Given the description of an element on the screen output the (x, y) to click on. 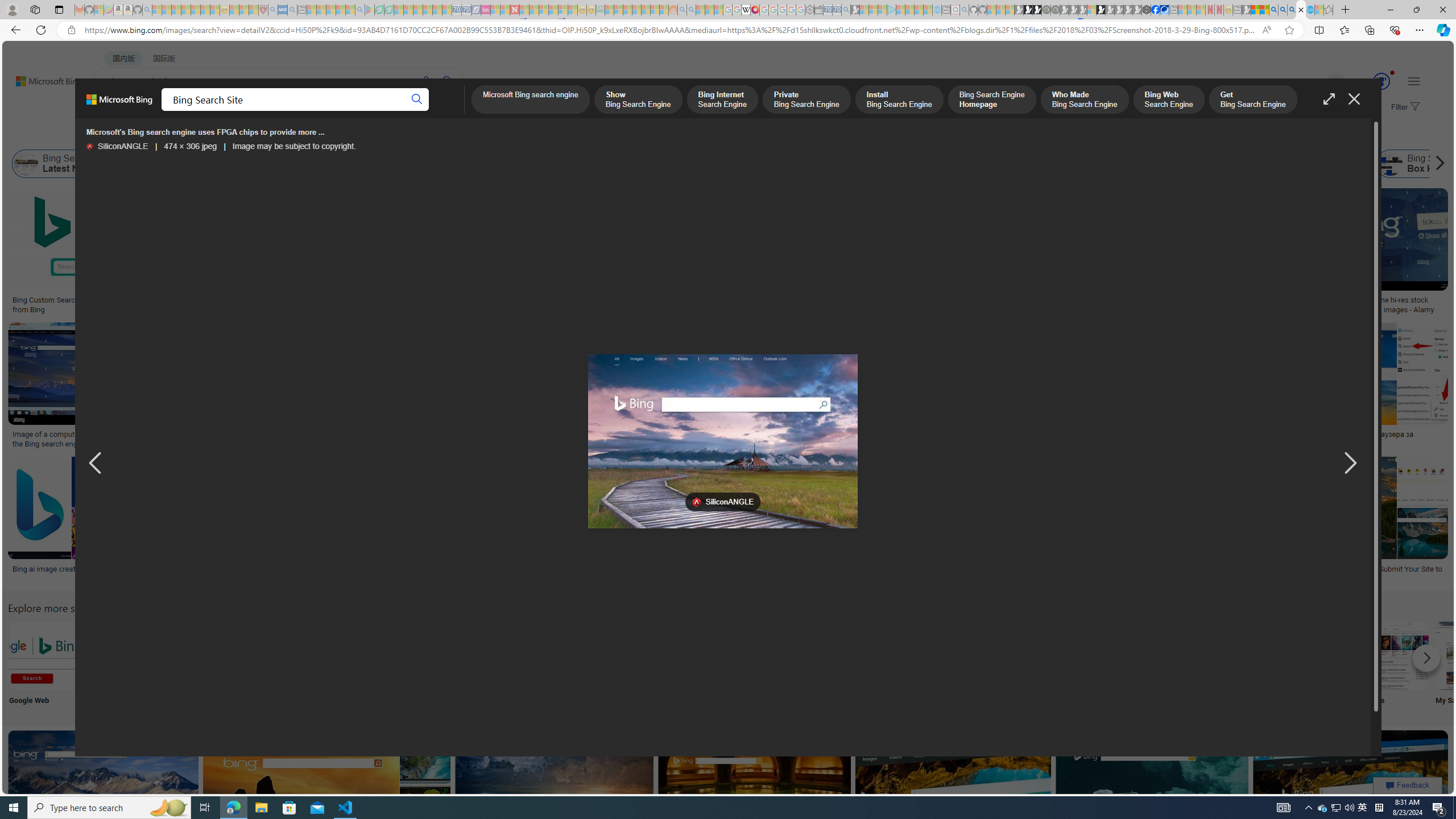
MY BING (156, 111)
AutomationID: serp_medal_svg (1381, 81)
Latest Politics News & Archive | Newsweek.com - Sleeping (514, 9)
Clip Art (493, 665)
Bing Search App (1018, 654)
Top 10 Search engine | REALITYPOD - Part 3 (939, 434)
Bing Home Screen (392, 163)
Bing Search Engine Homepage (1149, 163)
App (1018, 665)
Bing Search Site - Search Images (1300, 9)
